Given the description of an element on the screen output the (x, y) to click on. 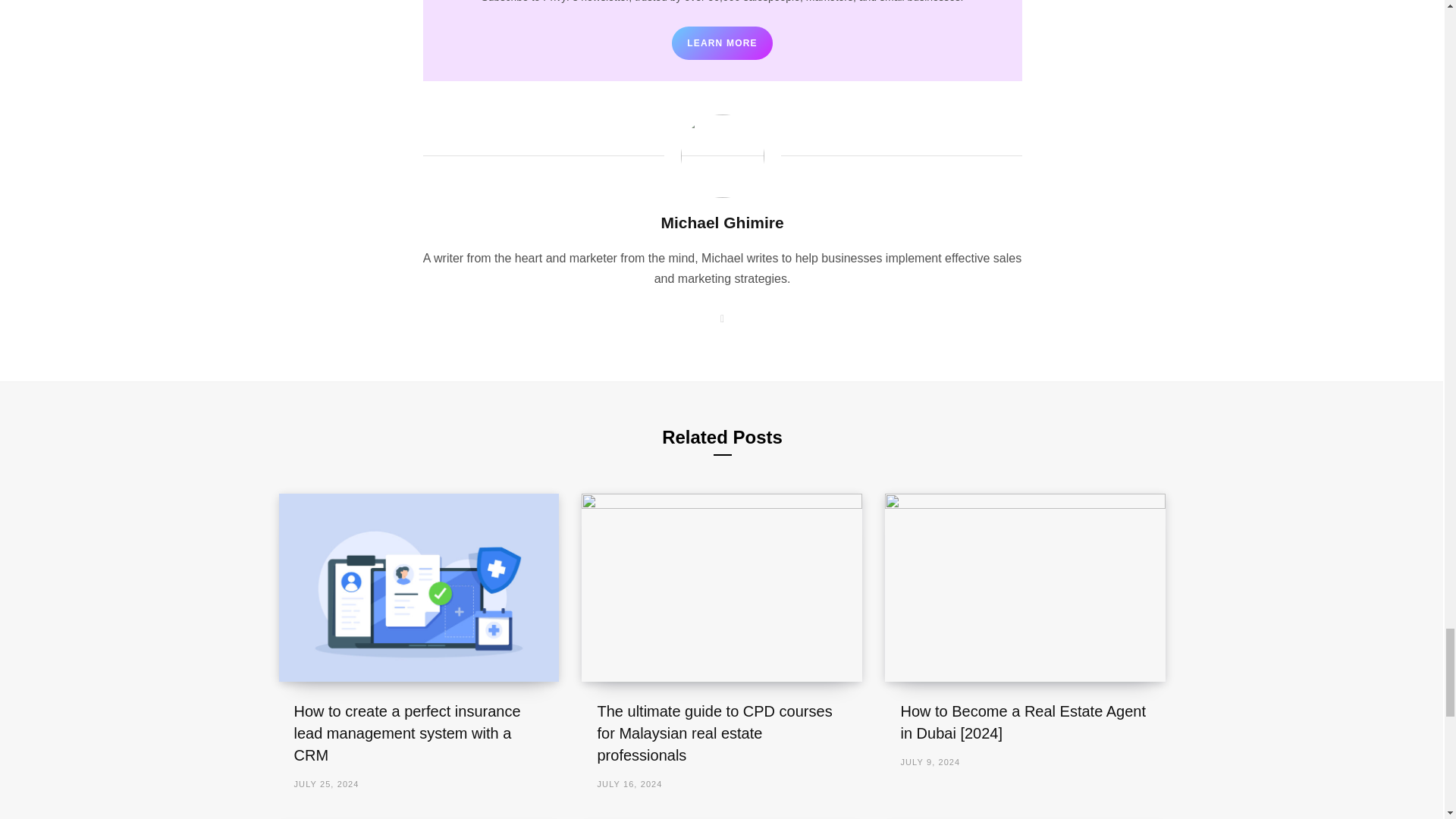
LEARN MORE (722, 42)
Michael Ghimire (722, 222)
Posts by Michael Ghimire (722, 222)
